Given the description of an element on the screen output the (x, y) to click on. 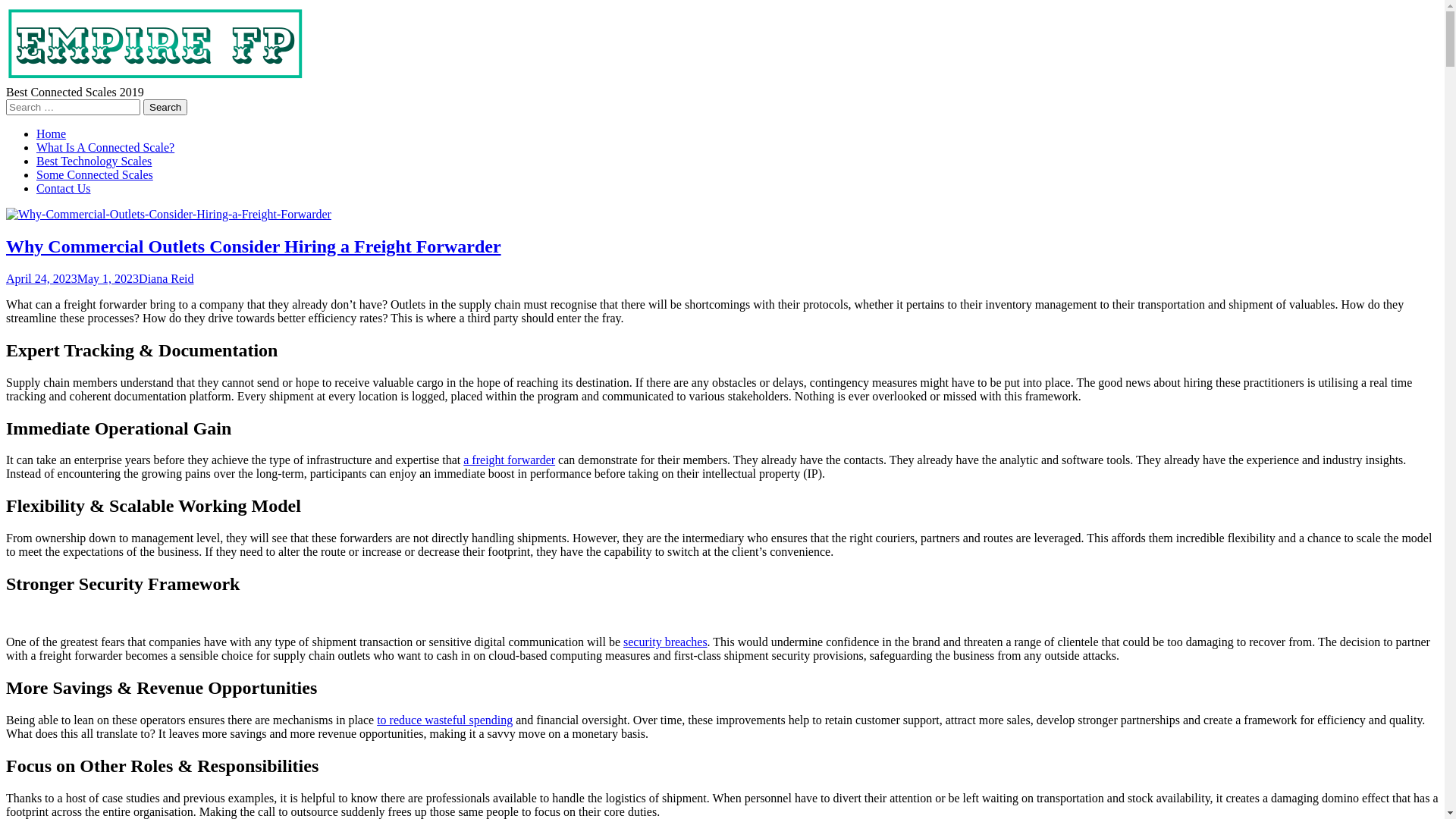
a freight forwarder Element type: text (509, 459)
Some Connected Scales Element type: text (94, 174)
Diana Reid Element type: text (165, 278)
Contact Us Element type: text (63, 188)
April 24, 2023May 1, 2023 Element type: text (72, 278)
What Is A Connected Scale? Element type: text (105, 147)
to reduce wasteful spending Element type: text (444, 719)
Why Commercial Outlets Consider Hiring a Freight Forwarder Element type: text (253, 246)
security breaches Element type: text (665, 641)
Search Element type: text (165, 107)
Best Technology Scales Element type: text (93, 160)
Skip to content Element type: text (5, 5)
Why Commercial Outlets Consider Hiring a Freight Forwarder Element type: hover (168, 213)
Home Element type: text (50, 133)
